Given the description of an element on the screen output the (x, y) to click on. 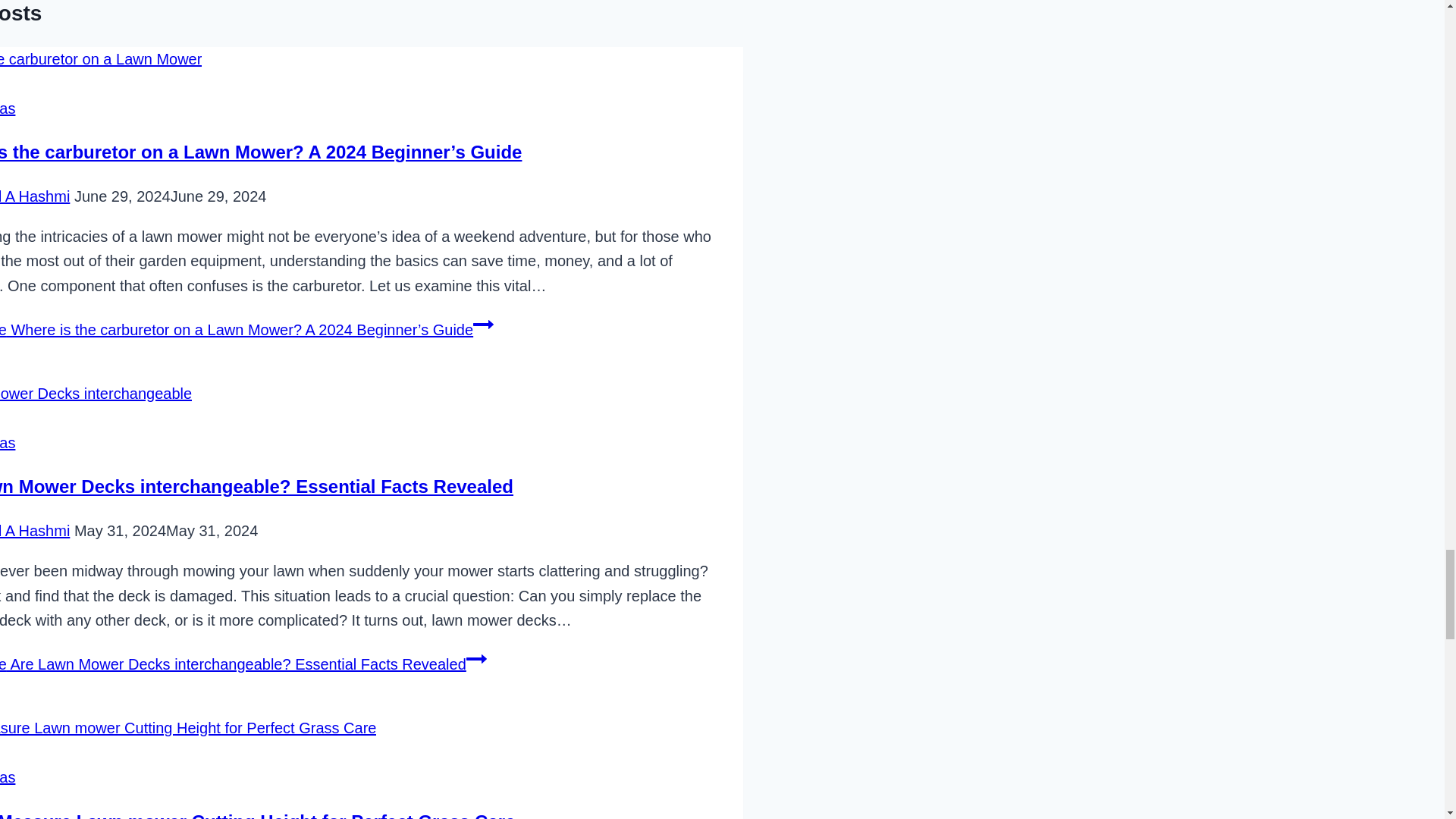
Naveed A Hashmi (34, 196)
Continue (475, 658)
Naveed A Hashmi (34, 530)
Continue (483, 323)
